Given the description of an element on the screen output the (x, y) to click on. 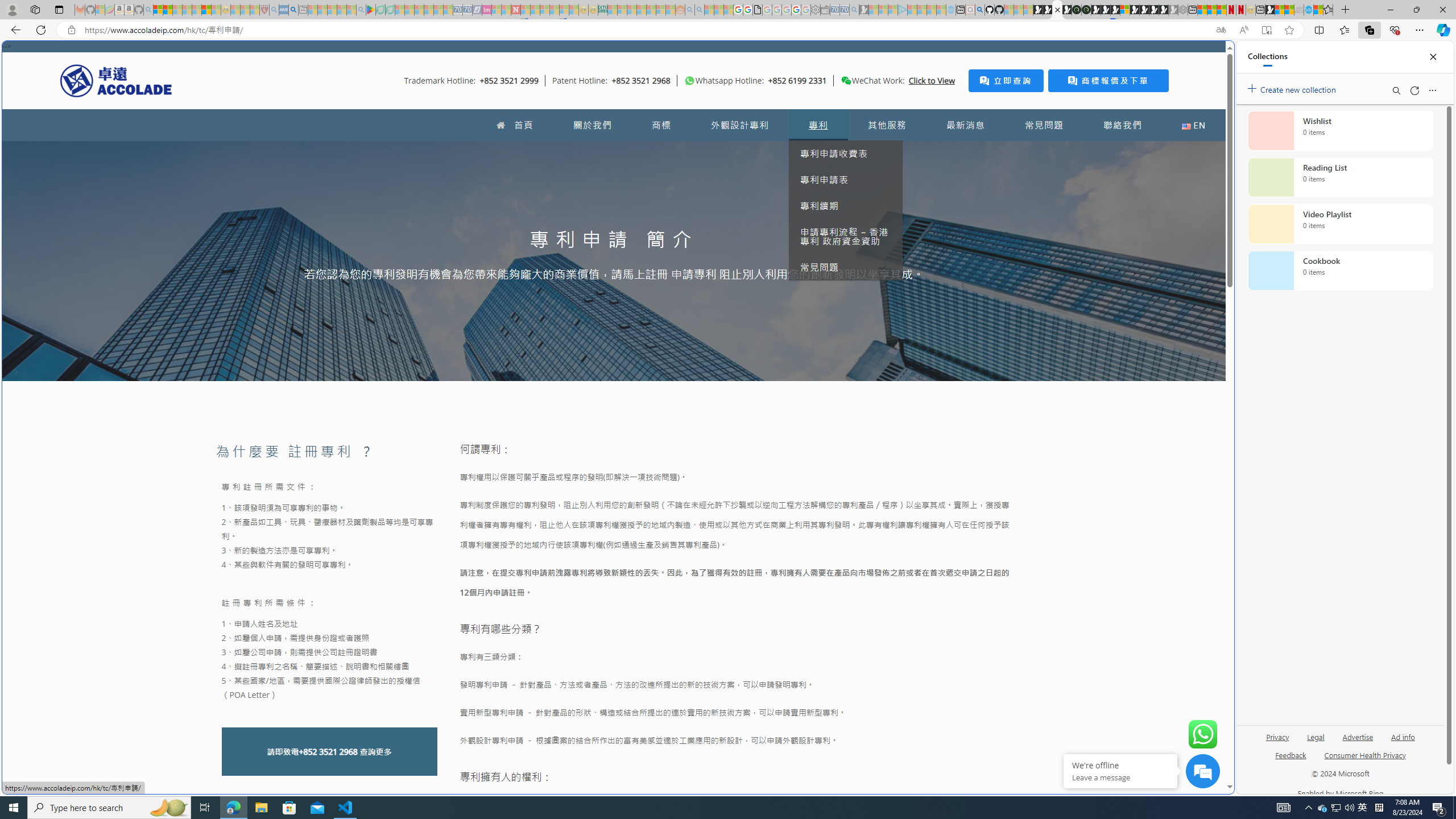
Search or enter web address (922, 108)
Reading List collection, 0 items (1339, 177)
